Given the description of an element on the screen output the (x, y) to click on. 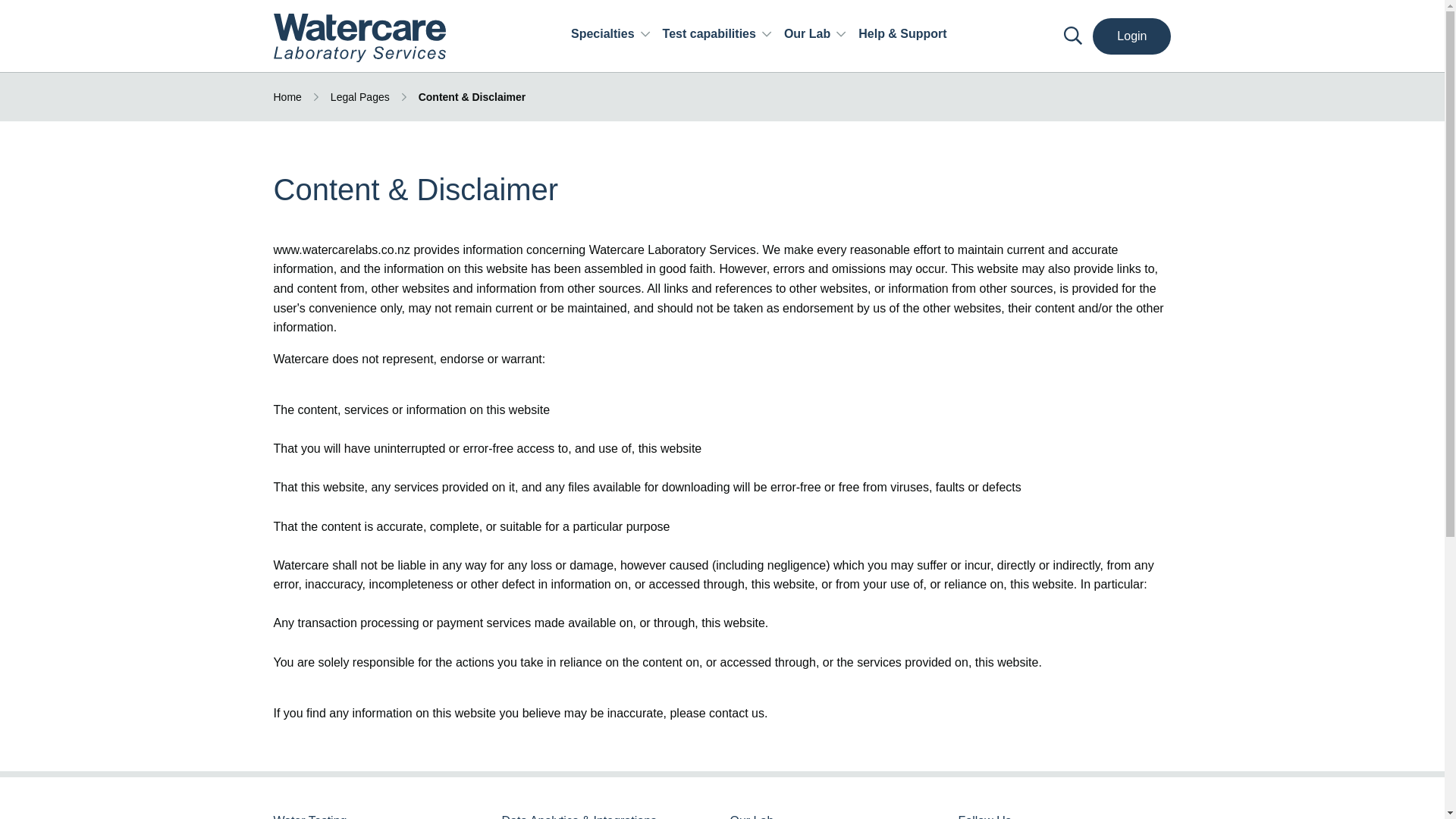
Login (1131, 36)
Test capabilities (716, 36)
Specialties (610, 36)
Legal Pages (360, 96)
Water Testing (379, 816)
